Given the description of an element on the screen output the (x, y) to click on. 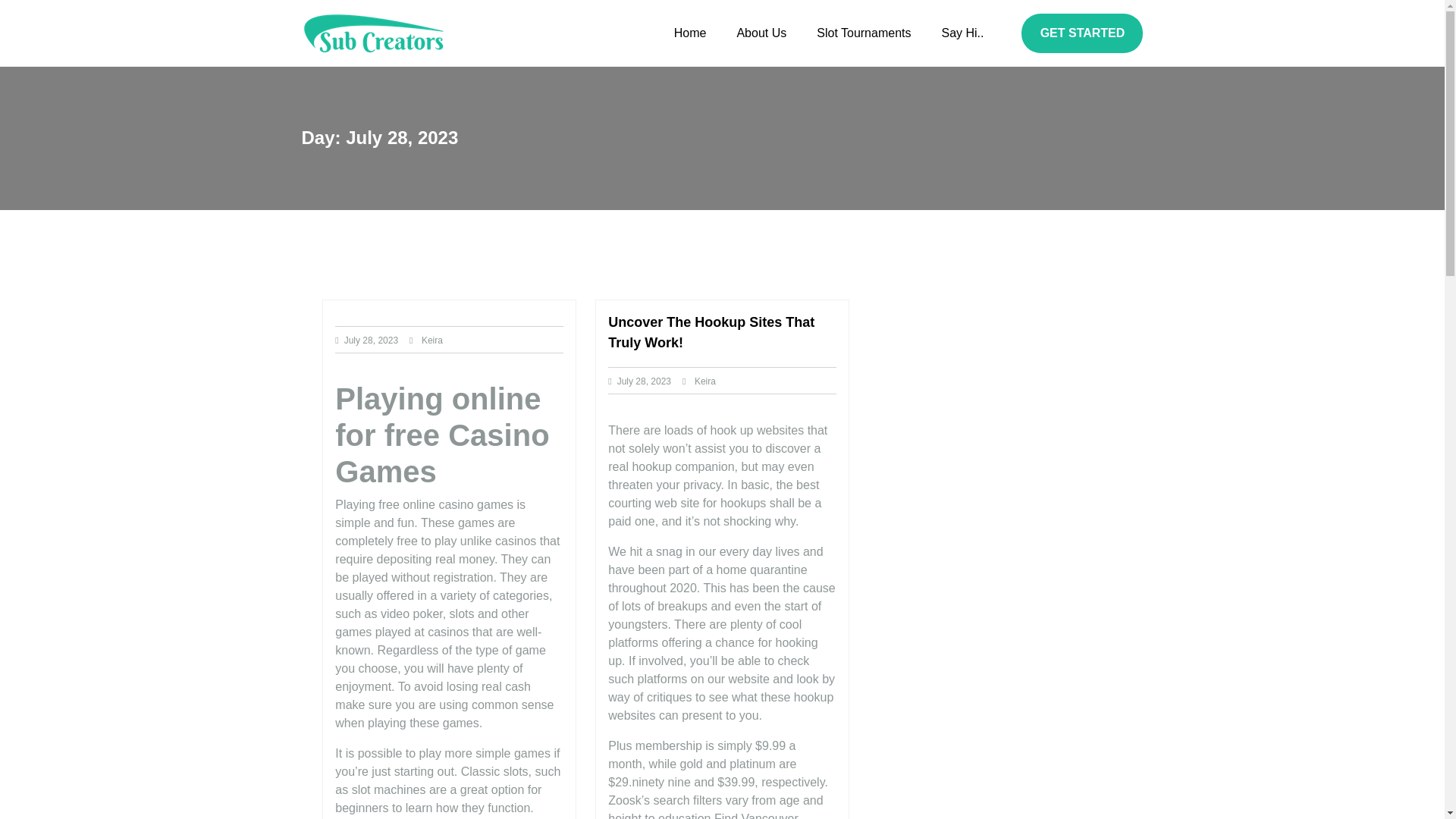
Sub Creators (369, 88)
Uncover The Hookup Sites That Truly Work! (710, 332)
Say Hi.. (962, 32)
Home (690, 32)
Keira (432, 339)
About Us (761, 32)
Find Vancouver hookups (702, 815)
July 28, 2023 (644, 380)
Slot Tournaments (863, 32)
July 28, 2023 (370, 339)
GET STARTED (1082, 33)
Keira (705, 380)
